Given the description of an element on the screen output the (x, y) to click on. 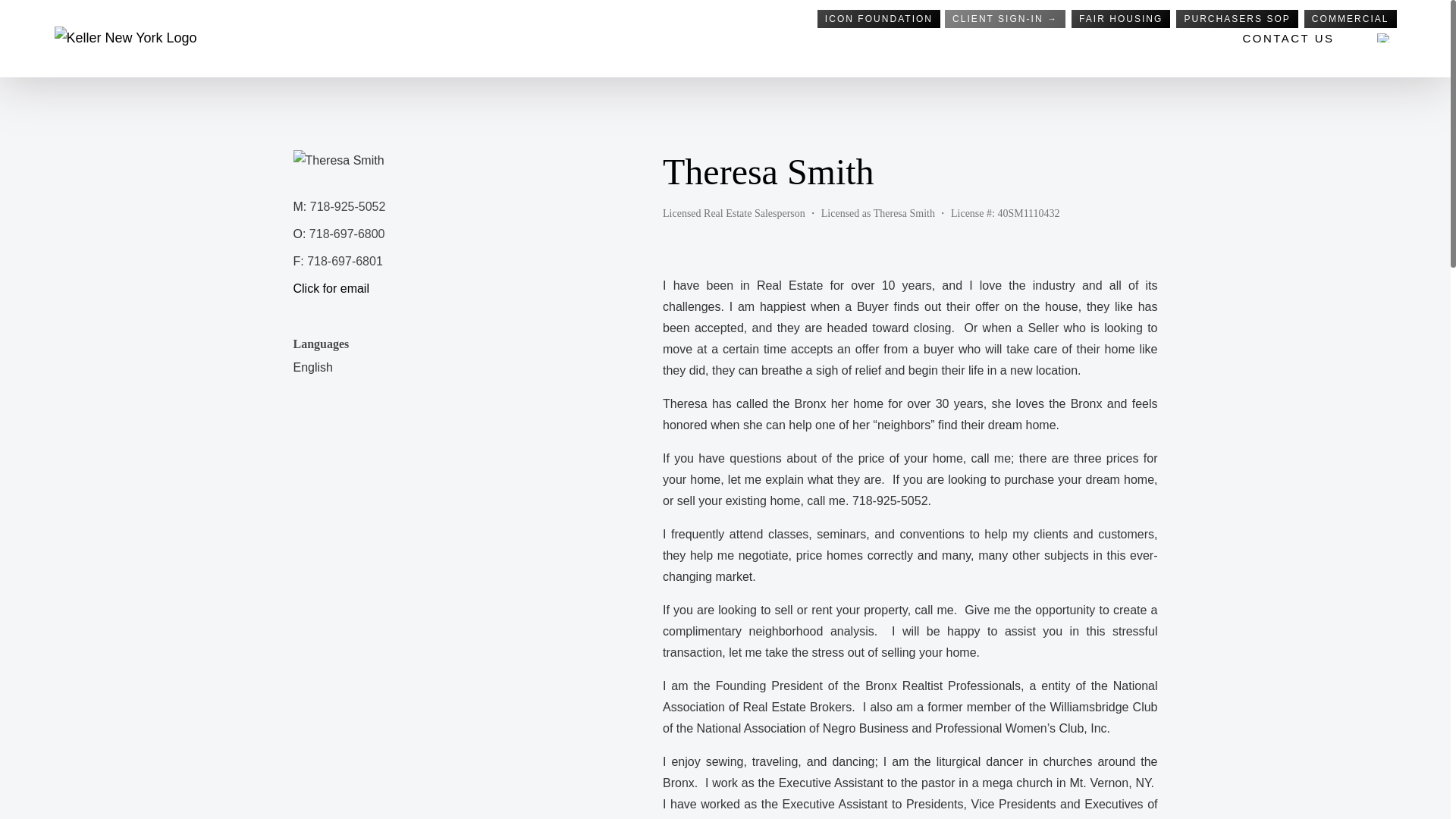
ICON FOUNDATION (878, 18)
COMMERCIAL (1350, 18)
CONTACT US (1287, 38)
FAIR HOUSING (1120, 18)
PURCHASERS SOP (1236, 18)
